Given the description of an element on the screen output the (x, y) to click on. 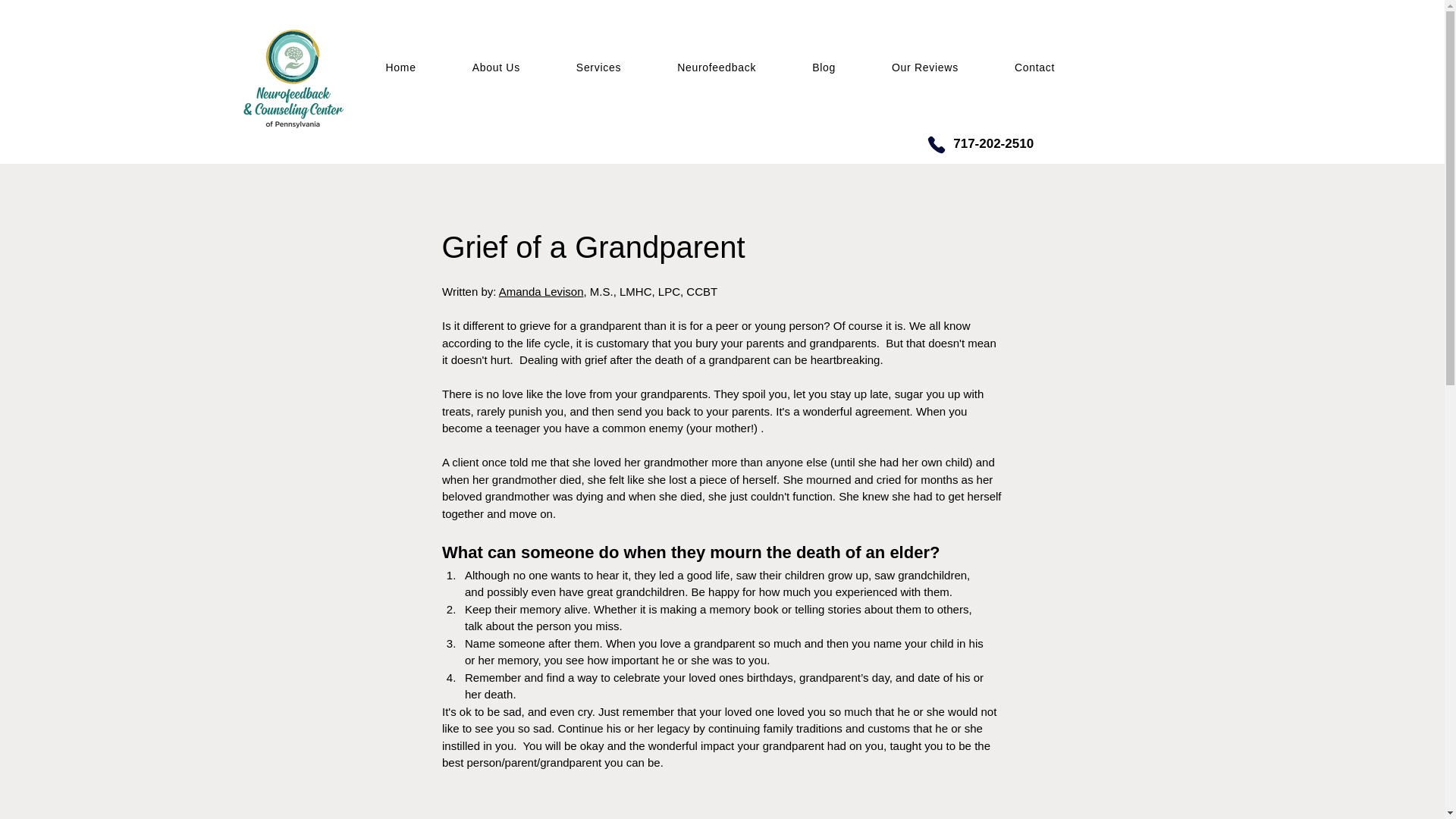
About Us (495, 67)
Amanda Levison (540, 291)
Contact (1034, 67)
Neurofeedback (715, 67)
Our Reviews (924, 67)
Home (400, 67)
 717-202-2510 (991, 143)
Services (598, 67)
Blog (824, 67)
